Given the description of an element on the screen output the (x, y) to click on. 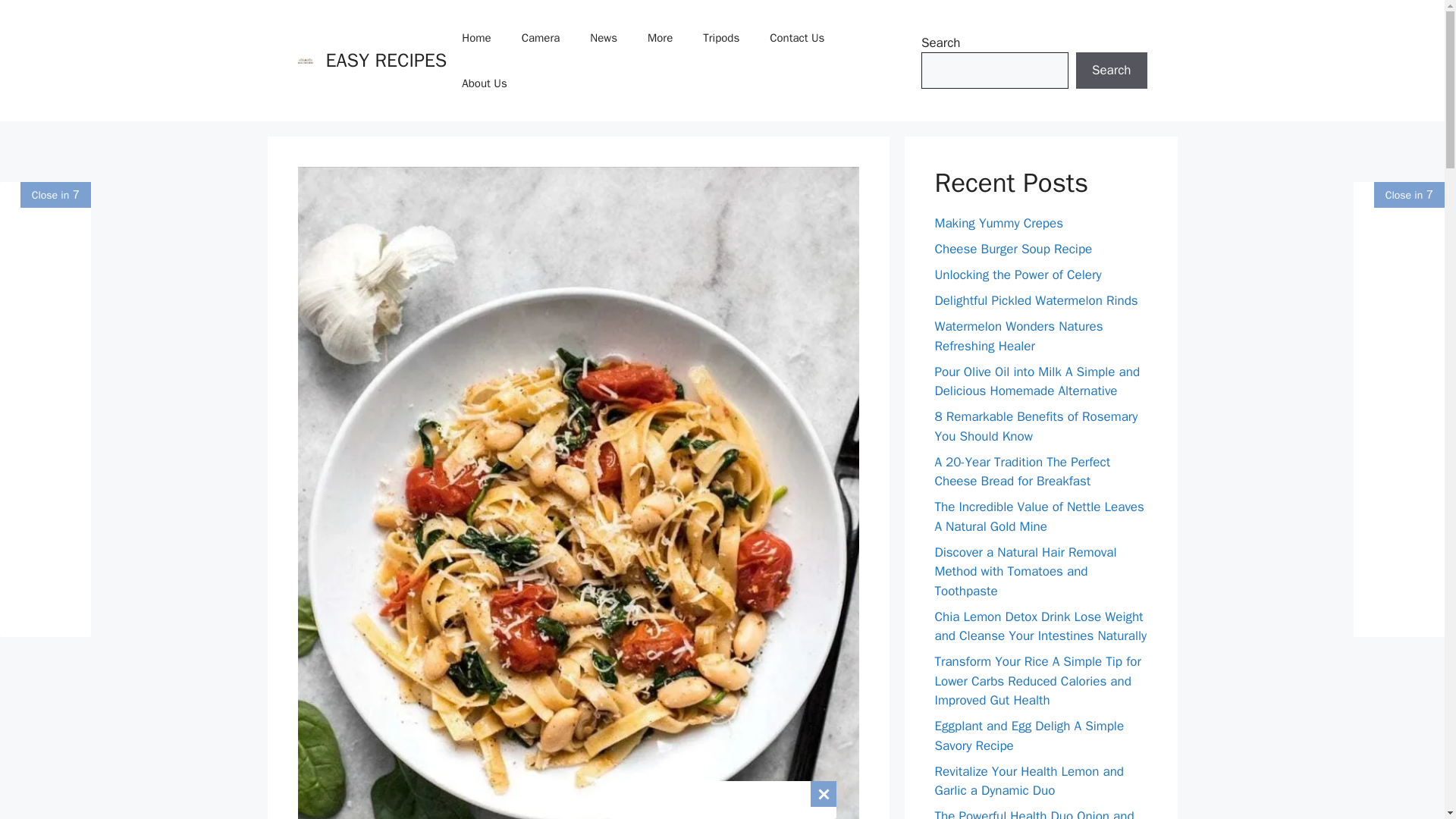
Watermelon Wonders Natures Refreshing Healer (1018, 335)
Camera (540, 37)
More (659, 37)
News (603, 37)
EASY RECIPES (386, 60)
Home (475, 37)
About Us (483, 83)
Tripods (720, 37)
Contact Us (797, 37)
Making Yummy Crepes (998, 222)
Unlocking the Power of Celery (1017, 274)
Delightful Pickled Watermelon Rinds (1035, 300)
Search (1111, 70)
Cheese Burger Soup Recipe (1013, 248)
